Given the description of an element on the screen output the (x, y) to click on. 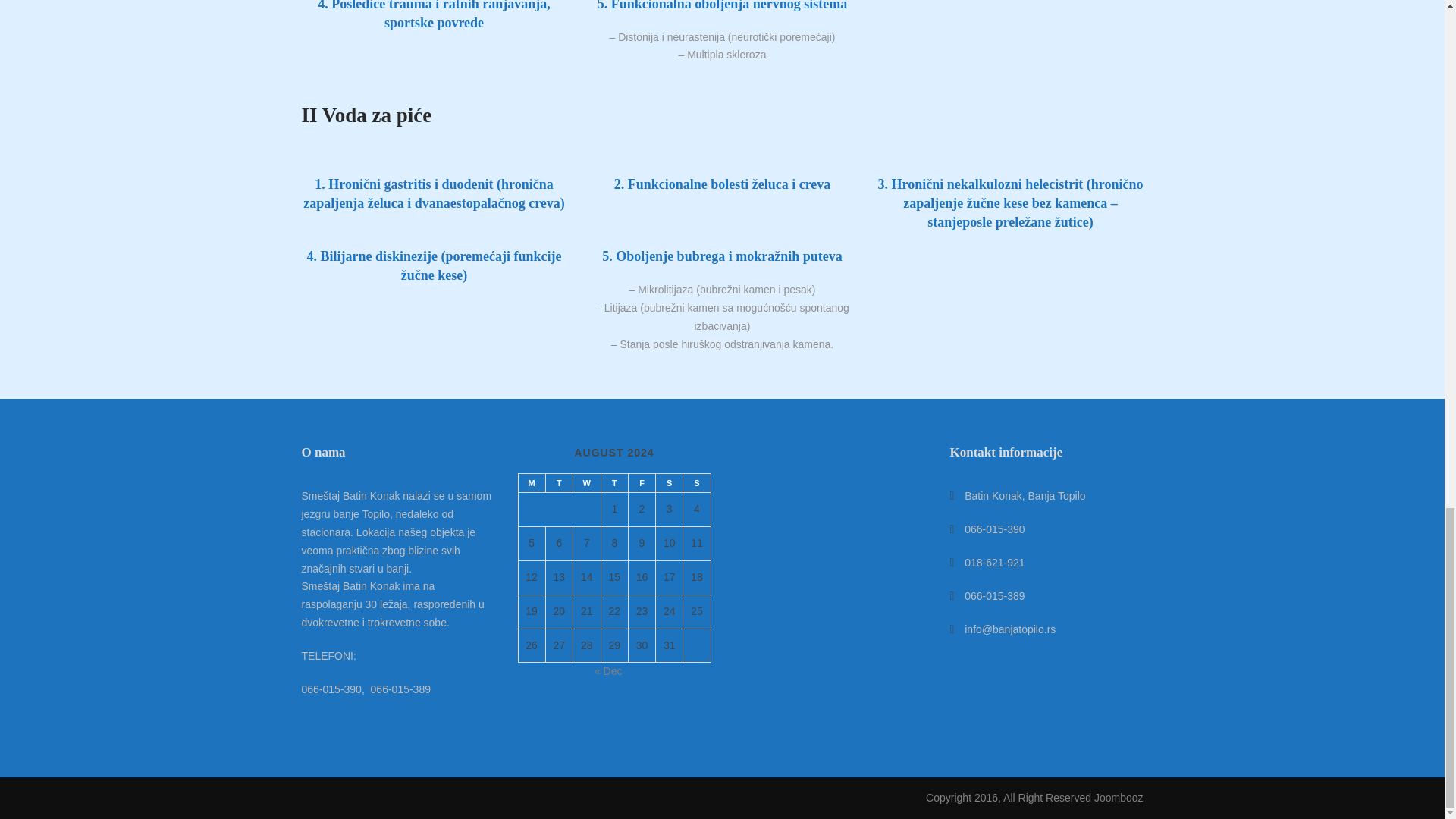
Sunday (696, 483)
Saturday (669, 483)
Tuesday (558, 483)
Monday (531, 483)
Thursday (613, 483)
Joombooz (1118, 797)
Wednesday (585, 483)
Friday (641, 483)
